Given the description of an element on the screen output the (x, y) to click on. 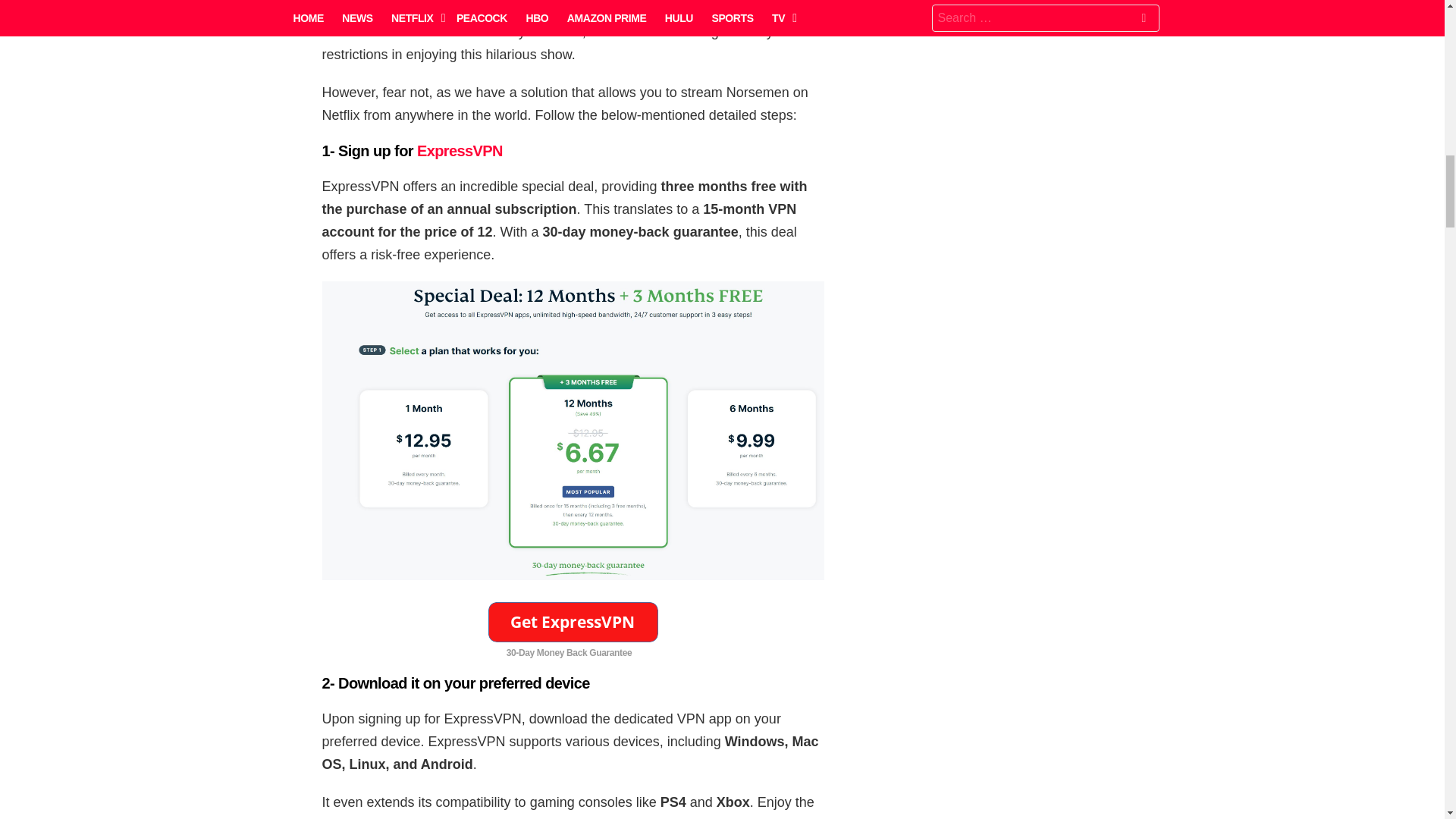
ExpressVPN (459, 150)
